Given the description of an element on the screen output the (x, y) to click on. 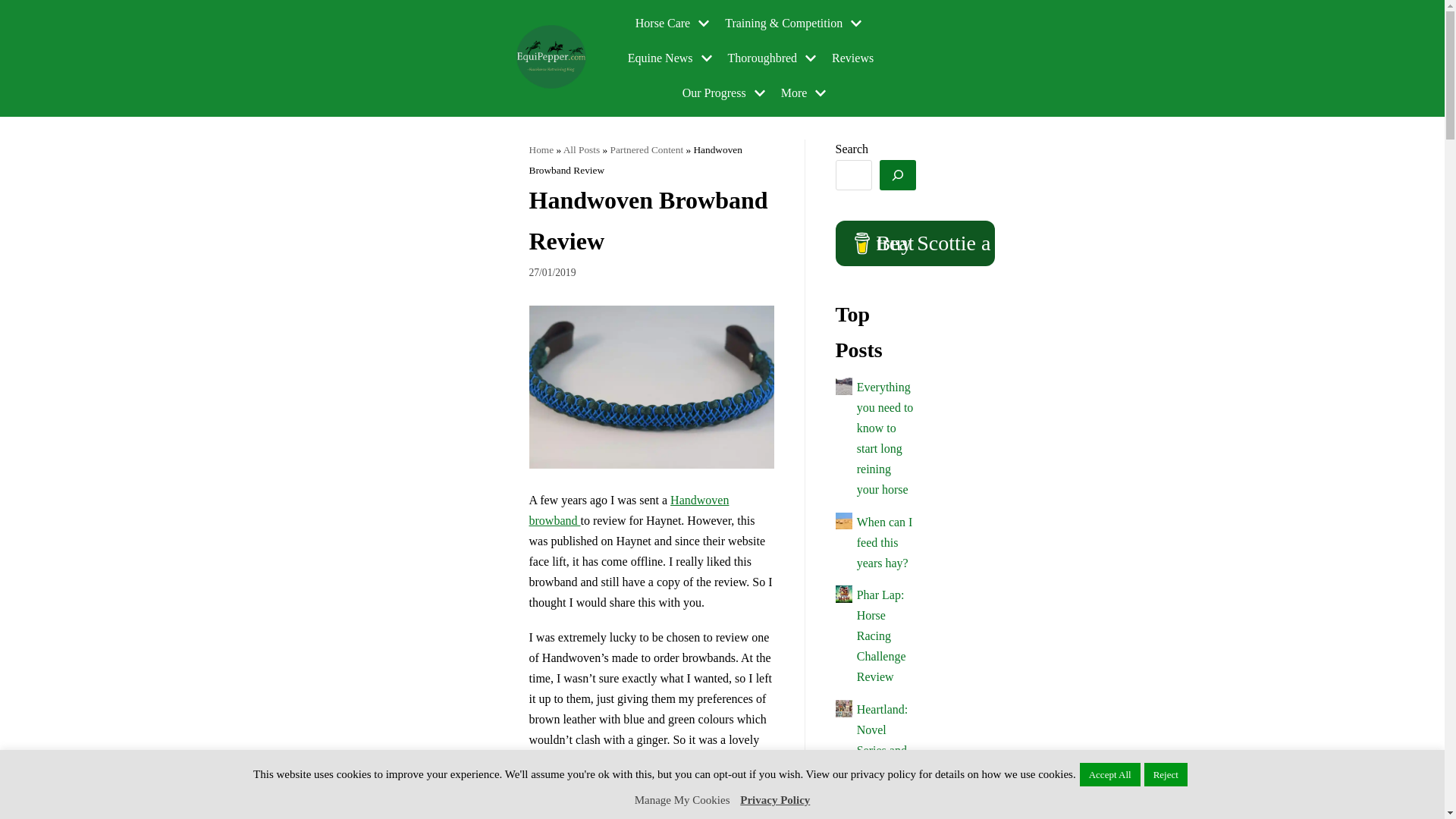
Horse Care (673, 23)
EquiPepper (551, 57)
More (805, 93)
Our Progress (726, 93)
Skip to content (15, 7)
Reviews (852, 58)
Equine News (671, 57)
Thoroughbred (774, 57)
